Given the description of an element on the screen output the (x, y) to click on. 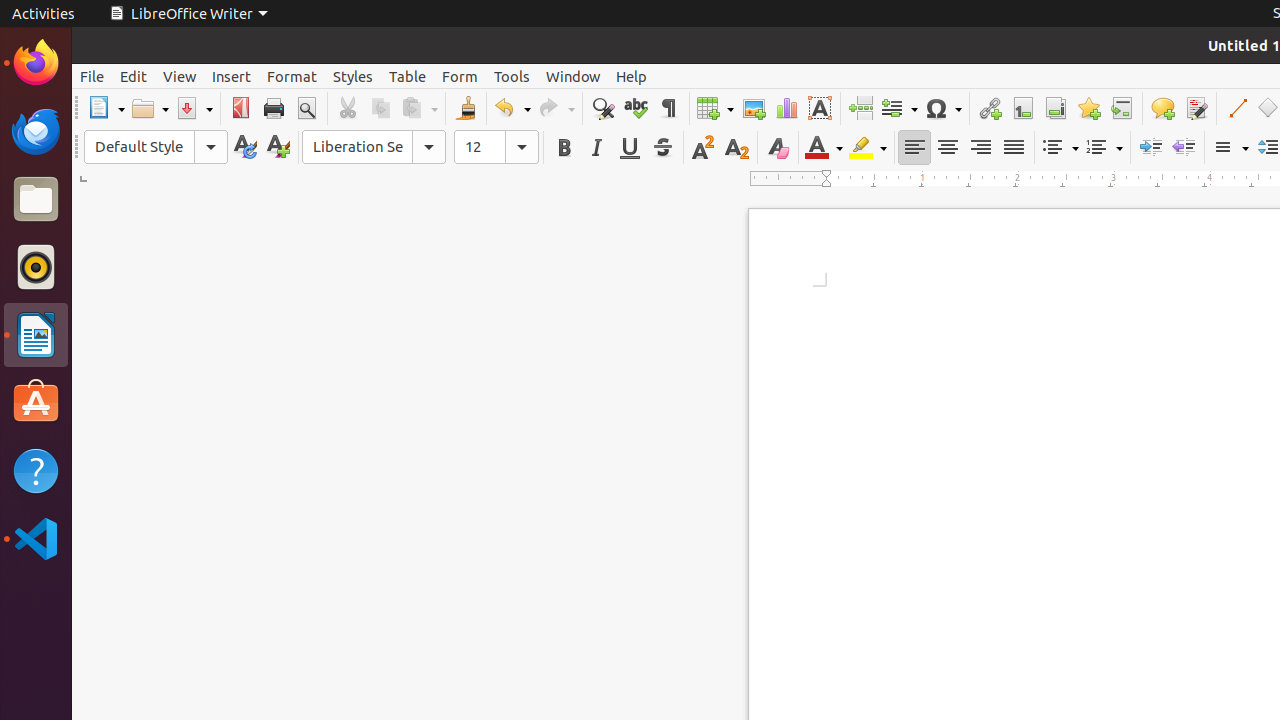
Copy Element type: push-button (380, 108)
Subscript Element type: toggle-button (736, 147)
Bookmark Element type: push-button (1088, 108)
Print Preview Element type: toggle-button (306, 108)
LibreOffice Writer Element type: menu (188, 13)
